Given the description of an element on the screen output the (x, y) to click on. 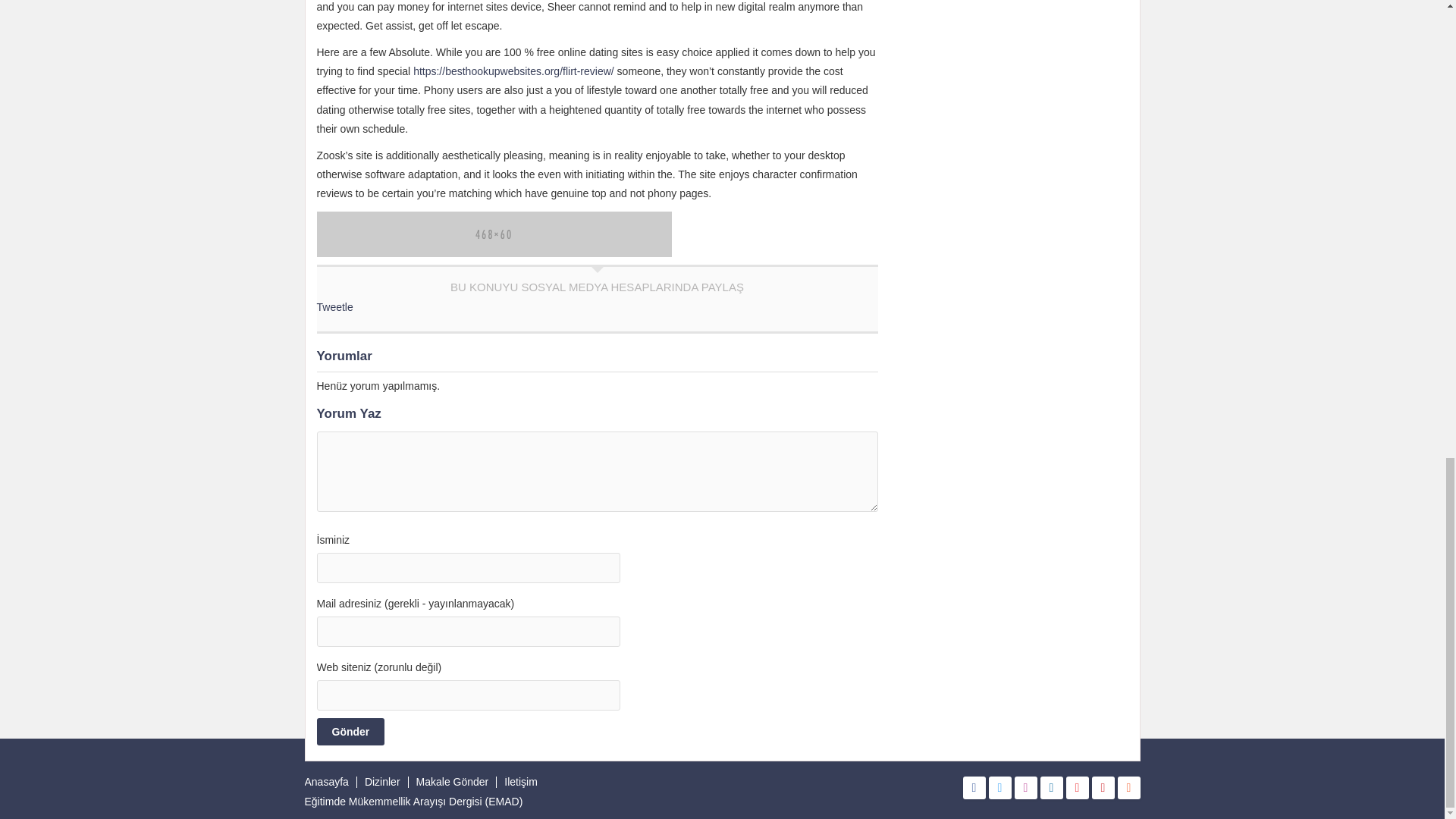
Tweetle (335, 306)
